Given the description of an element on the screen output the (x, y) to click on. 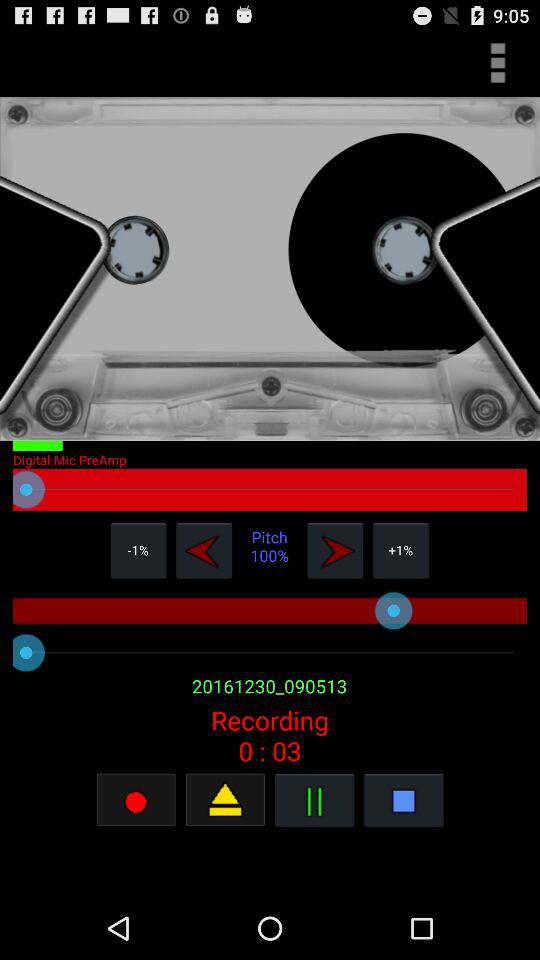
more details (498, 62)
